Given the description of an element on the screen output the (x, y) to click on. 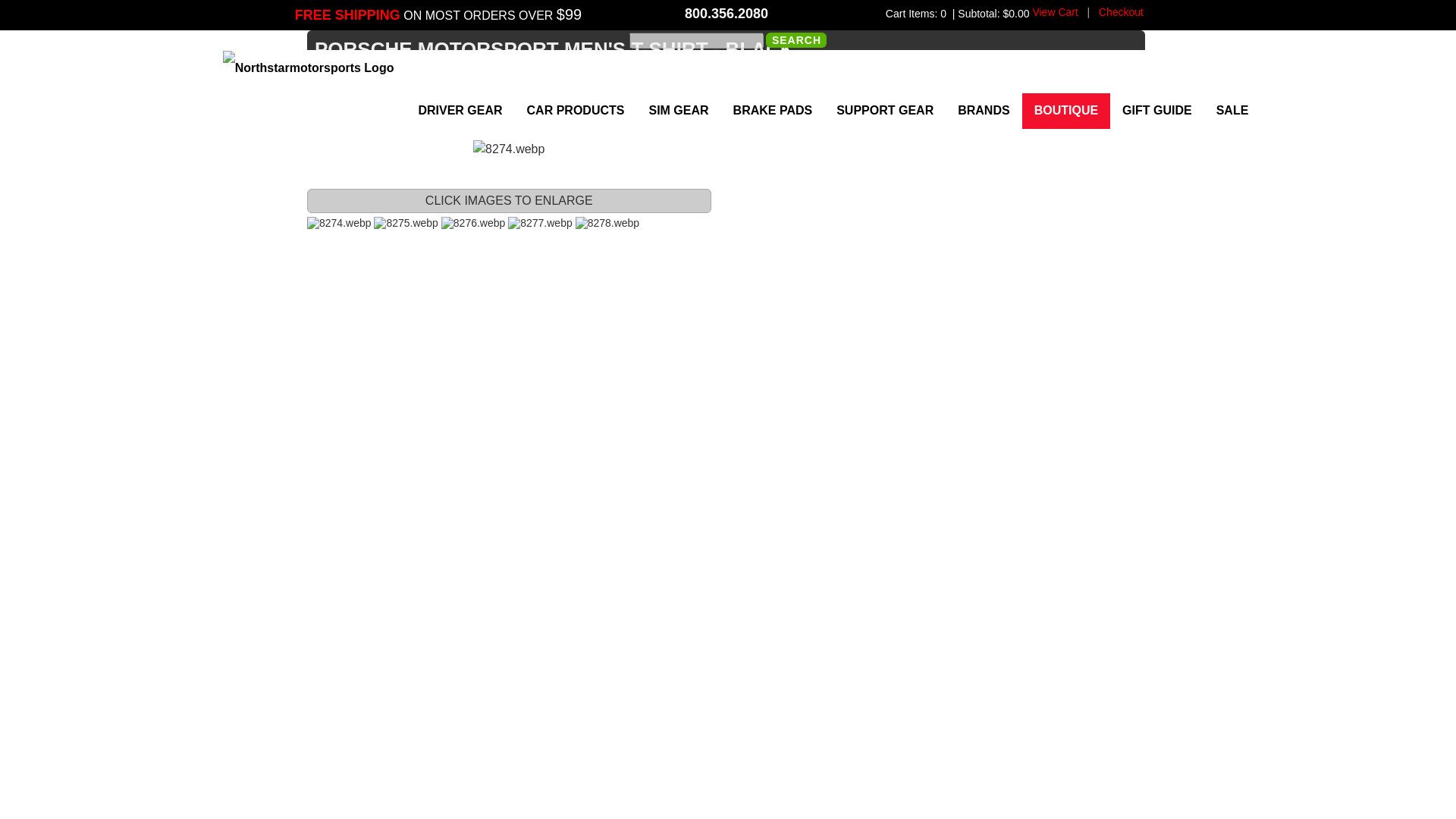
Search (796, 39)
Checkout (1120, 11)
DRIVER GEAR (459, 110)
View Cart (1054, 11)
800.356.2080 (726, 13)
Search (796, 39)
CAR PRODUCTS (575, 110)
